Given the description of an element on the screen output the (x, y) to click on. 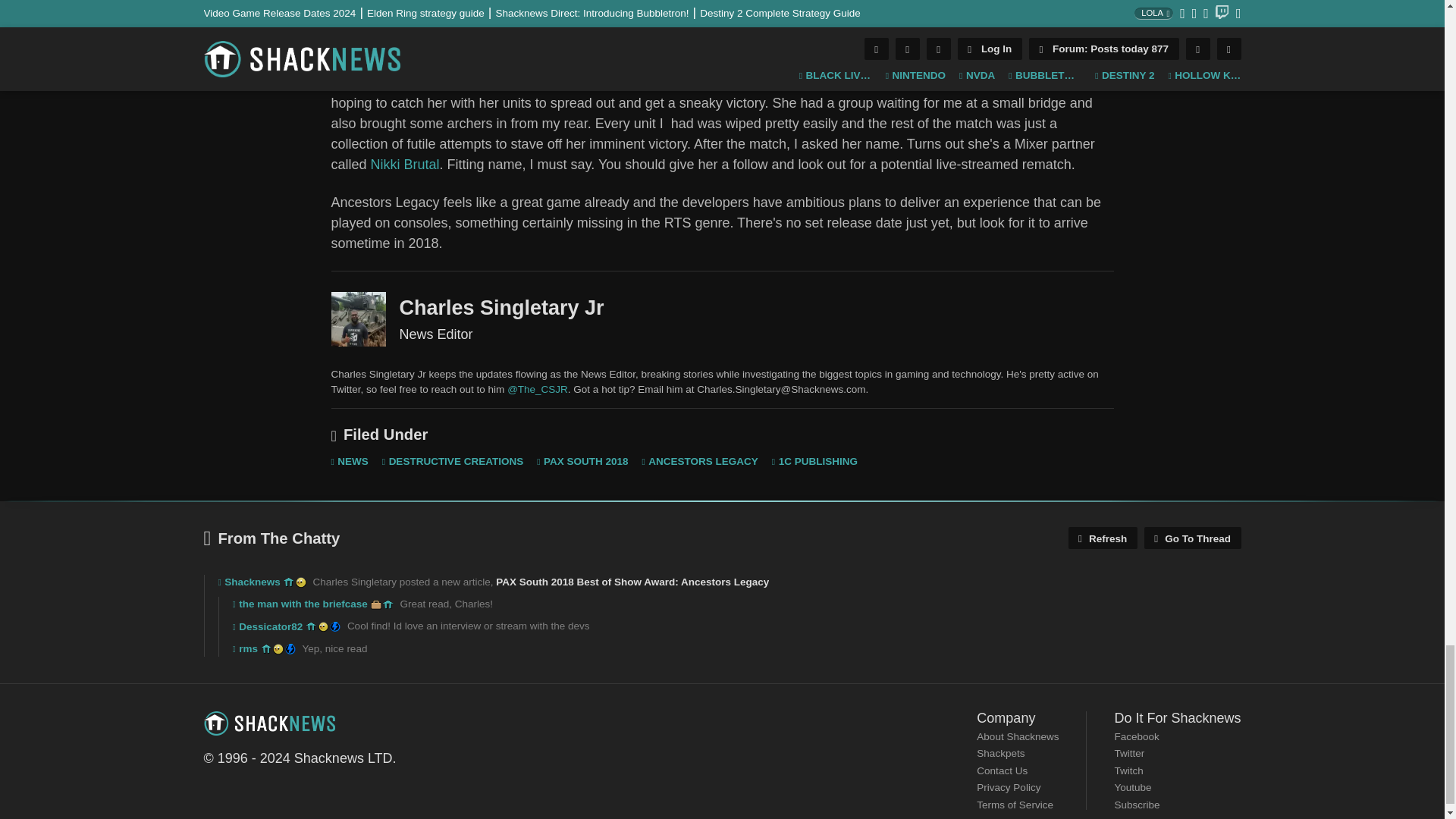
mercury super mega (335, 626)
legacy 10 years (311, 626)
legacy 10 years (267, 648)
News Editor (357, 318)
briefcase (376, 604)
legacy 10 years (387, 604)
legacy 20 years (323, 626)
mercury super mega (290, 648)
legacy 20 years (300, 582)
legacy 10 years (288, 582)
